Given the description of an element on the screen output the (x, y) to click on. 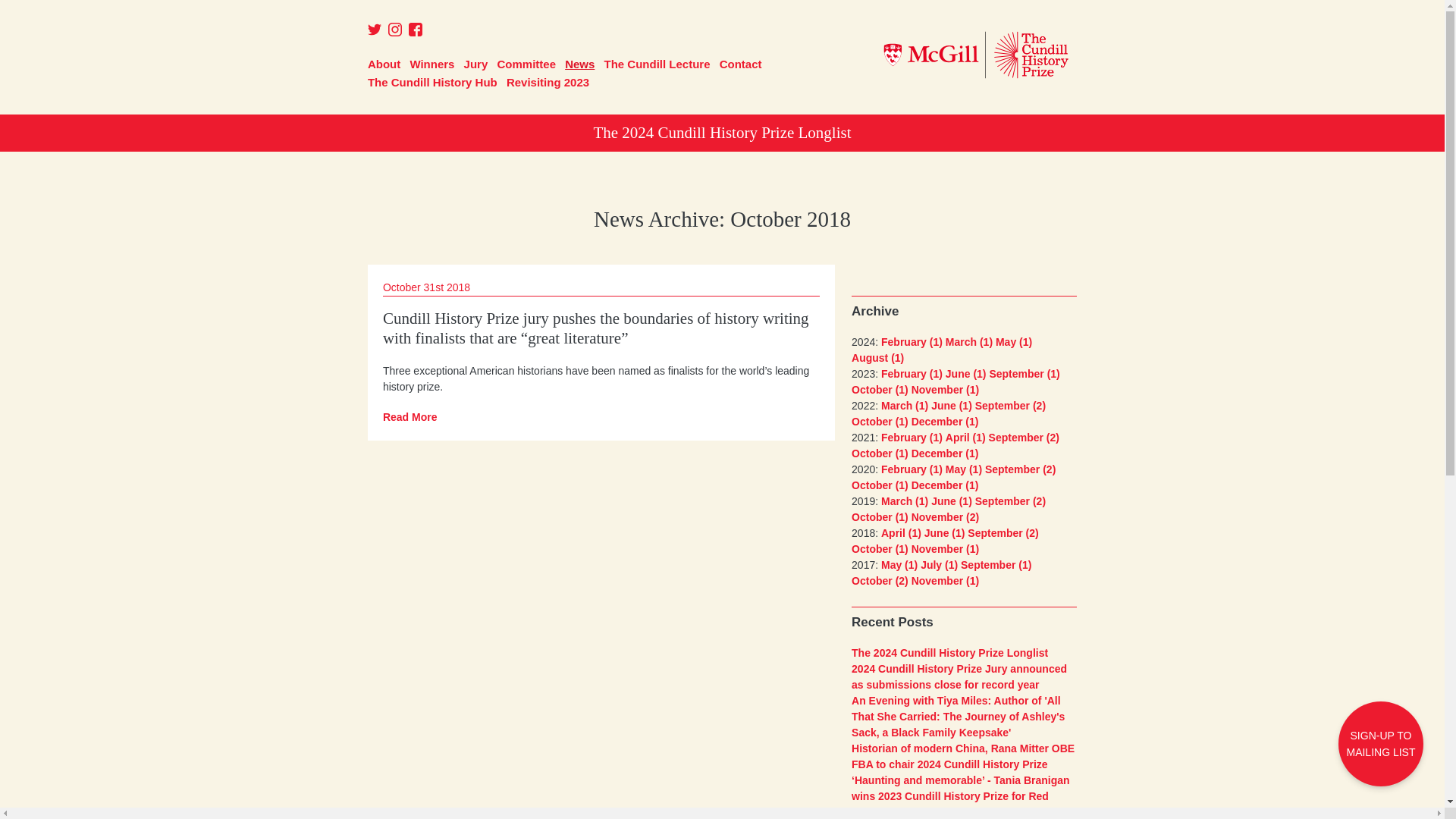
News (579, 64)
Like Cundill Prize on Facebook (415, 32)
About (384, 64)
The Cundill Lecture (657, 64)
Jury (475, 64)
Contact (740, 64)
Follow Cundill Prize on Twitter (374, 32)
Committee (526, 64)
Winners (431, 64)
The 2024 Cundill History Prize Longlist (722, 132)
